Given the description of an element on the screen output the (x, y) to click on. 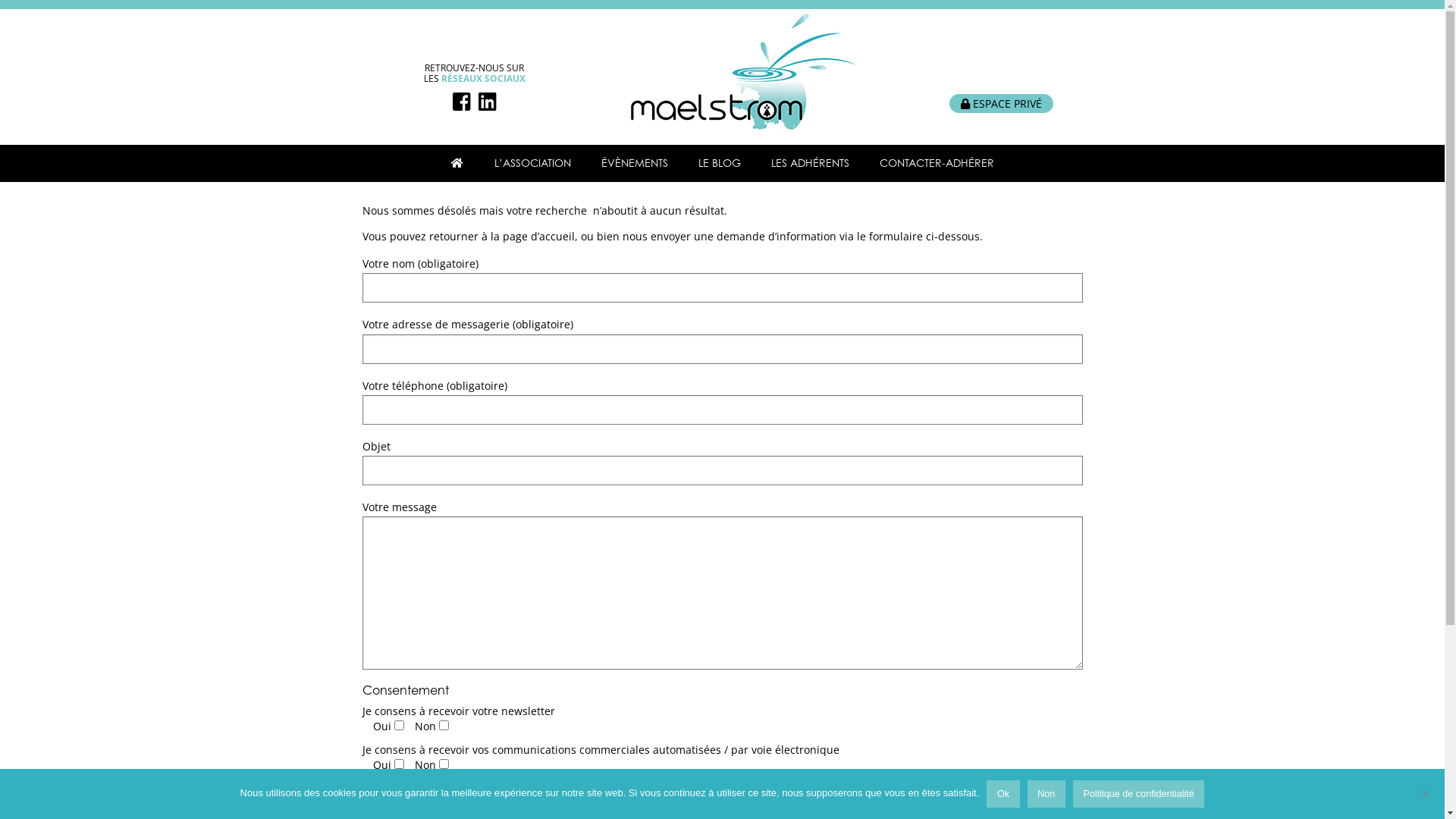
Non Element type: hover (1425, 793)
Non Element type: text (1046, 793)
LE BLOG Element type: text (719, 162)
Ok Element type: text (1002, 793)
